Given the description of an element on the screen output the (x, y) to click on. 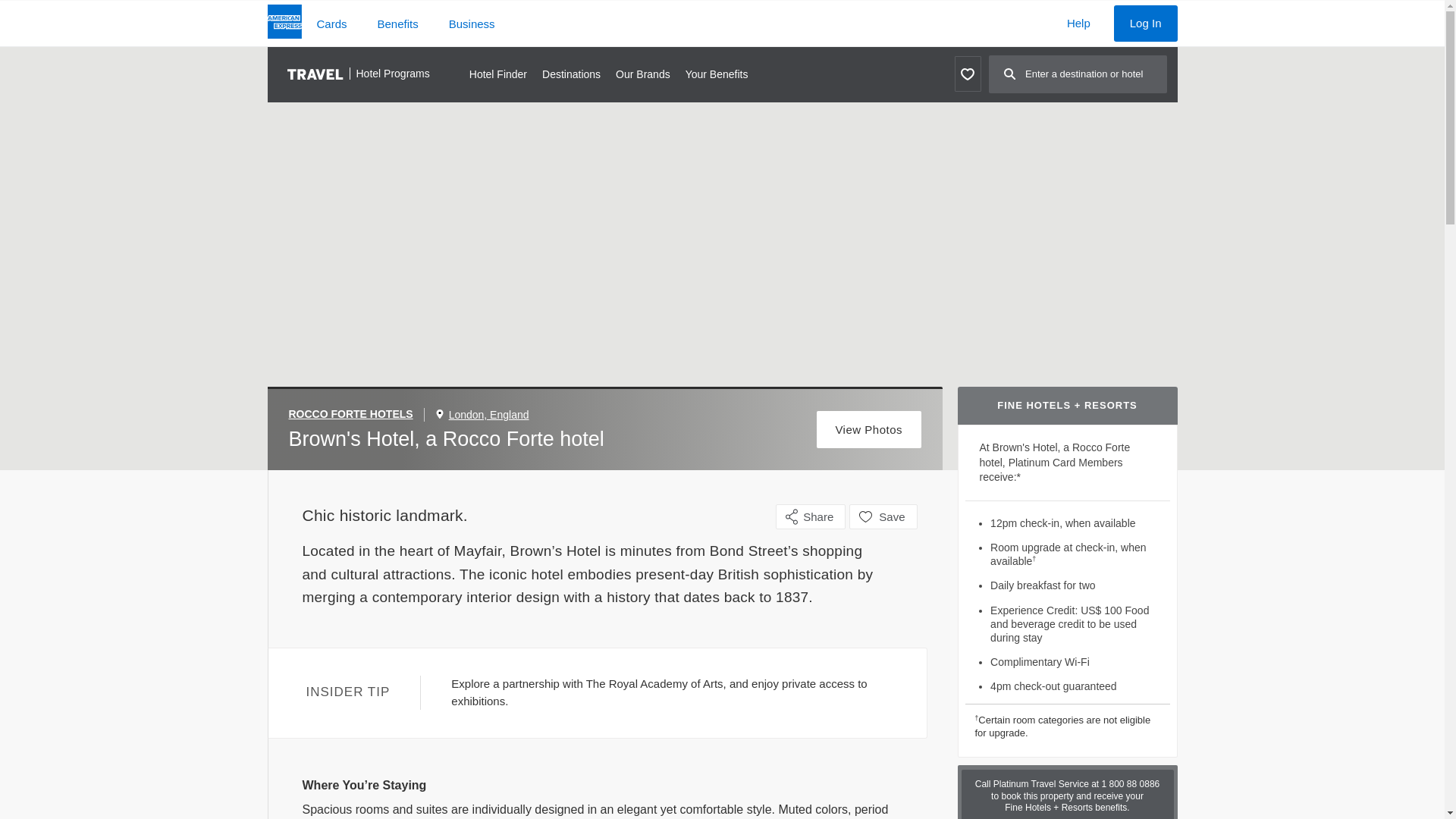
Homepage (283, 23)
Favorites (966, 73)
Help (1078, 23)
Log In (1145, 22)
